Given the description of an element on the screen output the (x, y) to click on. 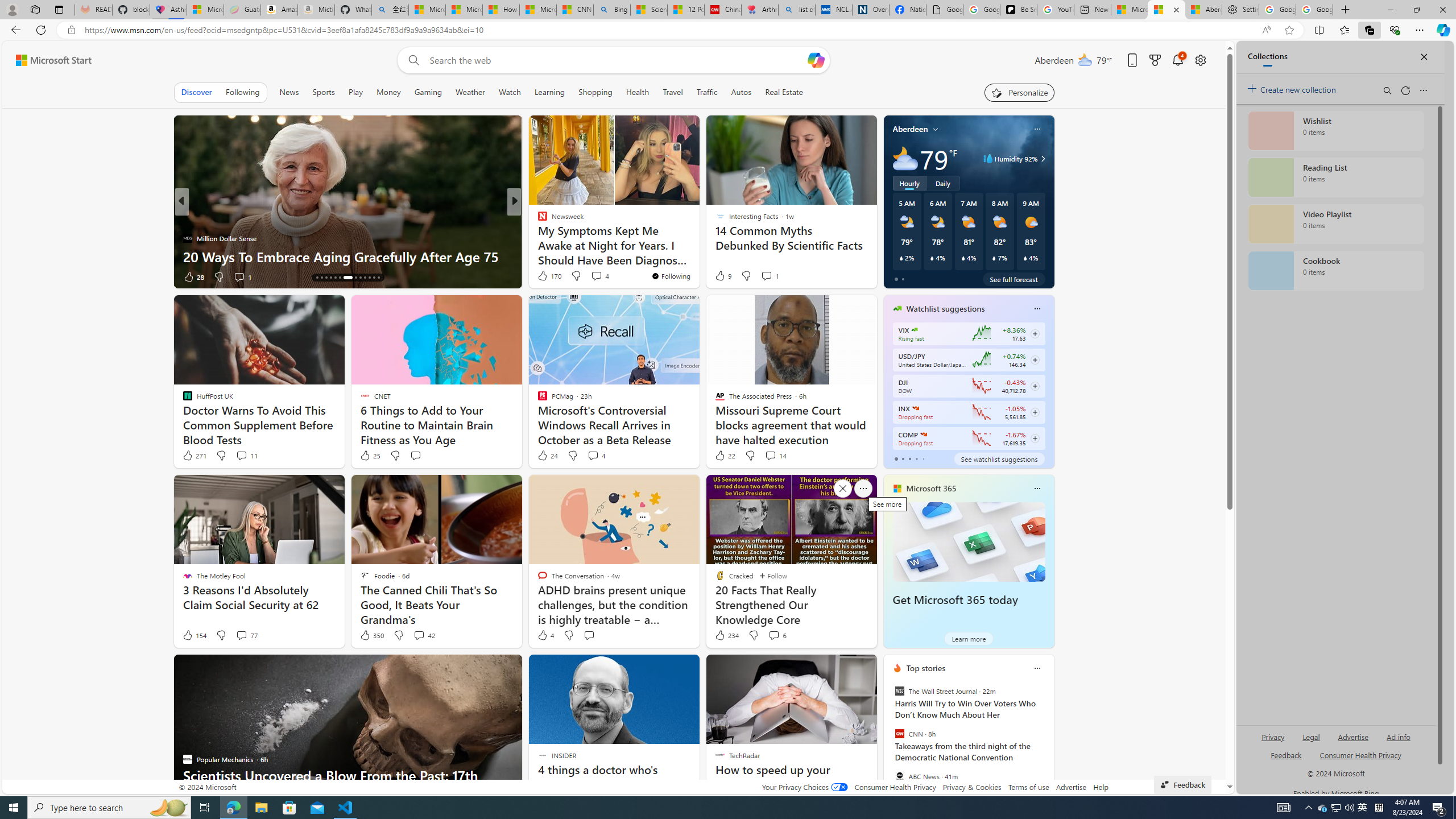
NASDAQ (923, 434)
View comments 6 Comment (773, 635)
tab-2 (908, 458)
AutomationID: tab-19 (339, 277)
Hide this story (841, 668)
AutomationID: tab-14 (317, 277)
